Given the description of an element on the screen output the (x, y) to click on. 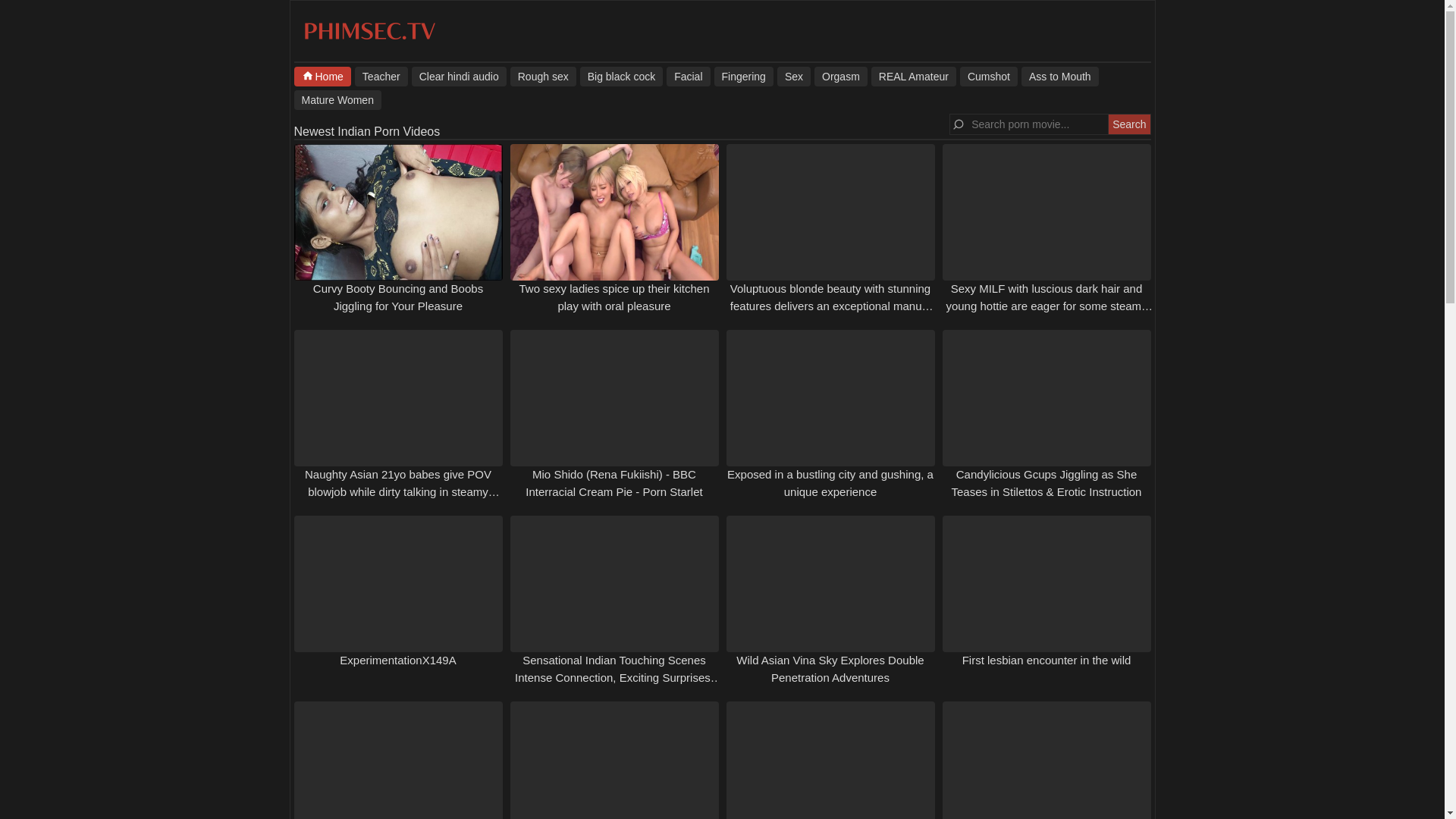
xxx.phimsec.tv (369, 38)
Sex (793, 76)
Clear hindi audio (459, 76)
Mature Women (337, 99)
Search (1129, 124)
Xem phim sex (367, 131)
Rough sex (543, 76)
Ass to Mouth (1060, 76)
Search (1129, 124)
Big black cock (620, 76)
REAL Amateur (913, 76)
Facial (688, 76)
